Given the description of an element on the screen output the (x, y) to click on. 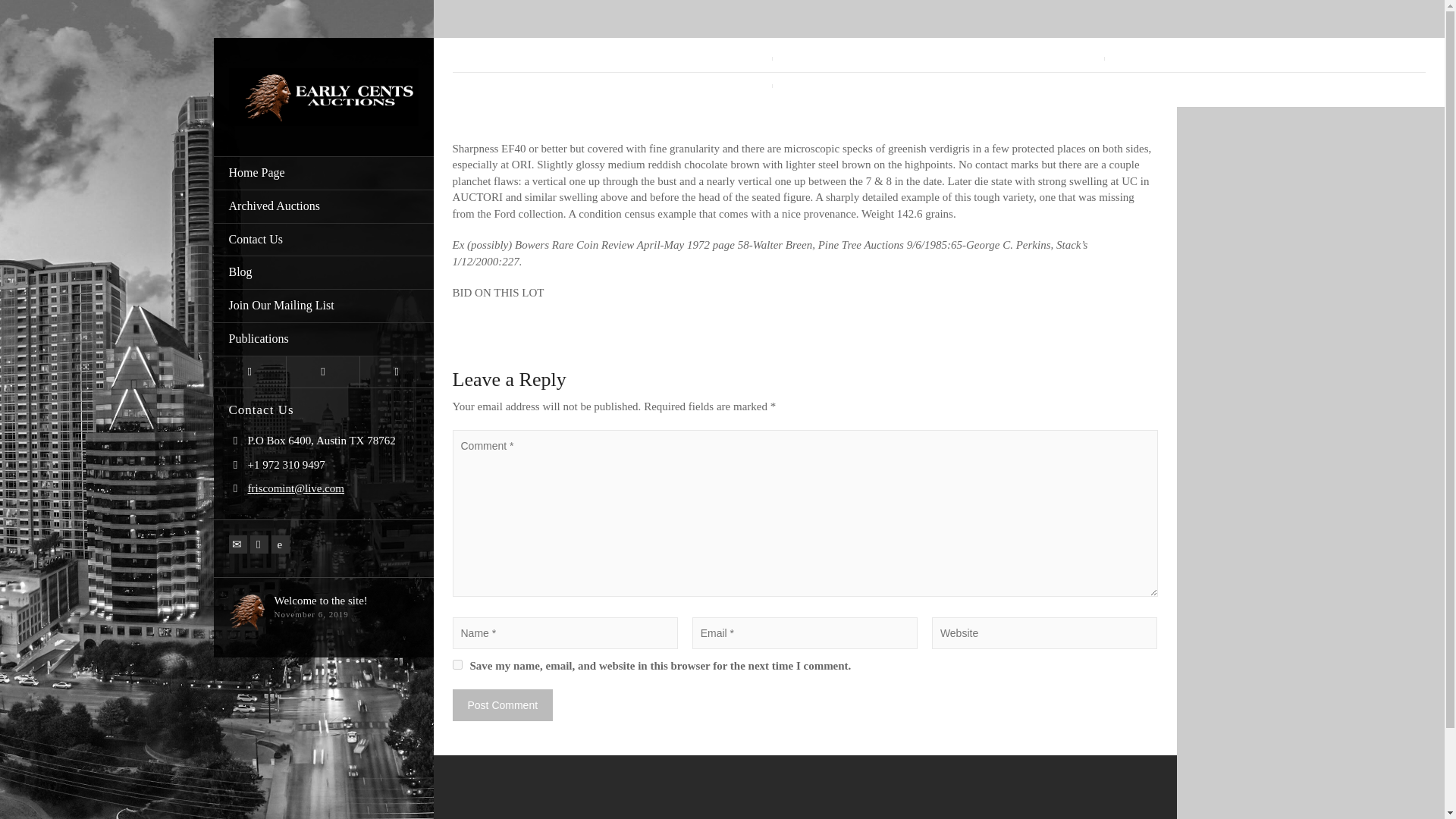
Post Comment (502, 705)
Blog (323, 272)
Cart (322, 371)
Home Page (323, 173)
Publications (323, 339)
Email (237, 544)
Contact Us (323, 240)
Join Our Mailing List (323, 305)
Welcome to the site! (321, 600)
Login (250, 371)
